Given the description of an element on the screen output the (x, y) to click on. 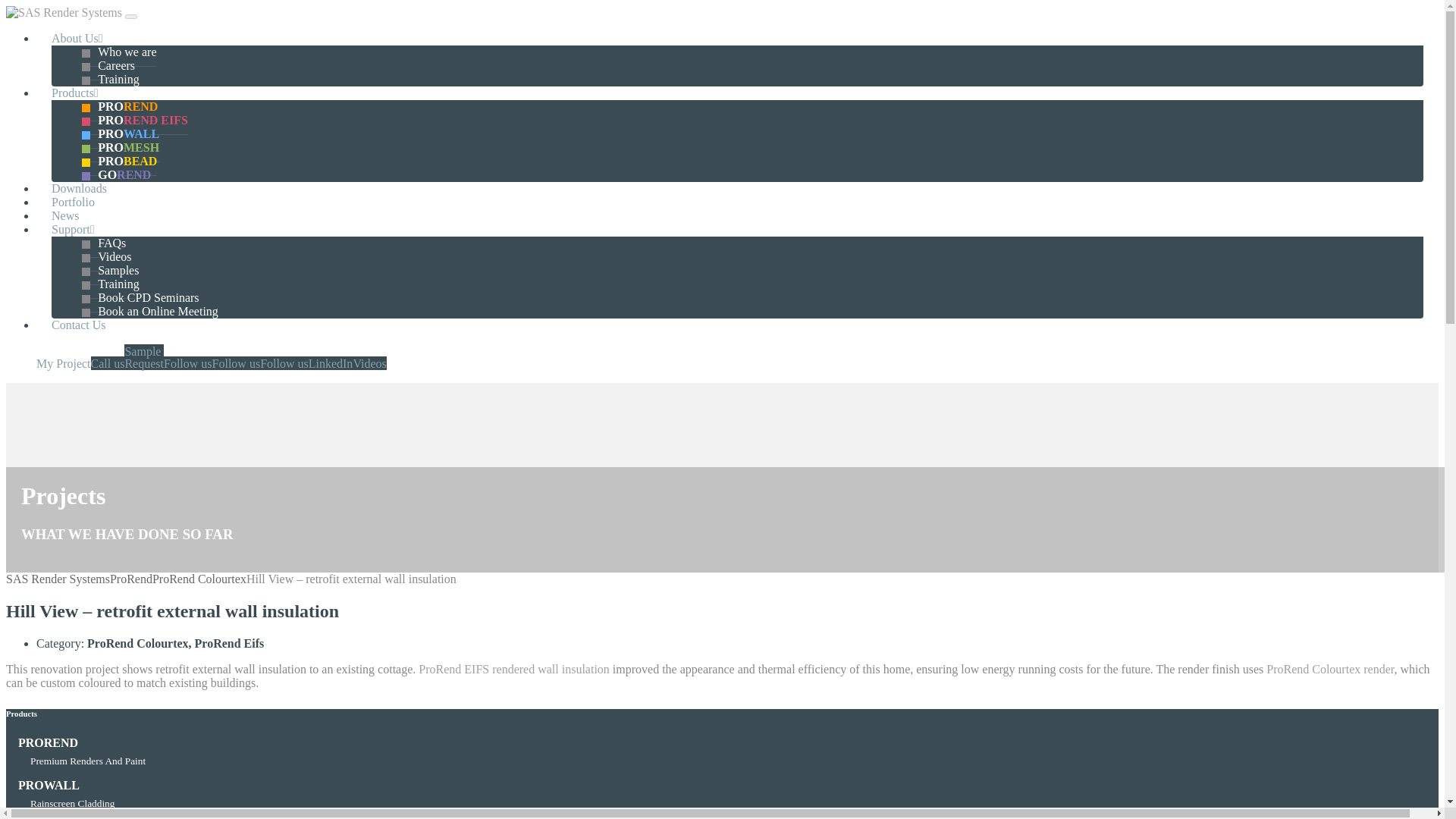
Products (74, 92)
GOREND (116, 174)
Videos (368, 363)
Follow us on Instagram! (284, 363)
Follow us on Twitter! (187, 363)
PROBEAD (119, 161)
ProRend Colourtex (199, 578)
Samples (109, 270)
My Project (63, 363)
About Us (76, 38)
